Given the description of an element on the screen output the (x, y) to click on. 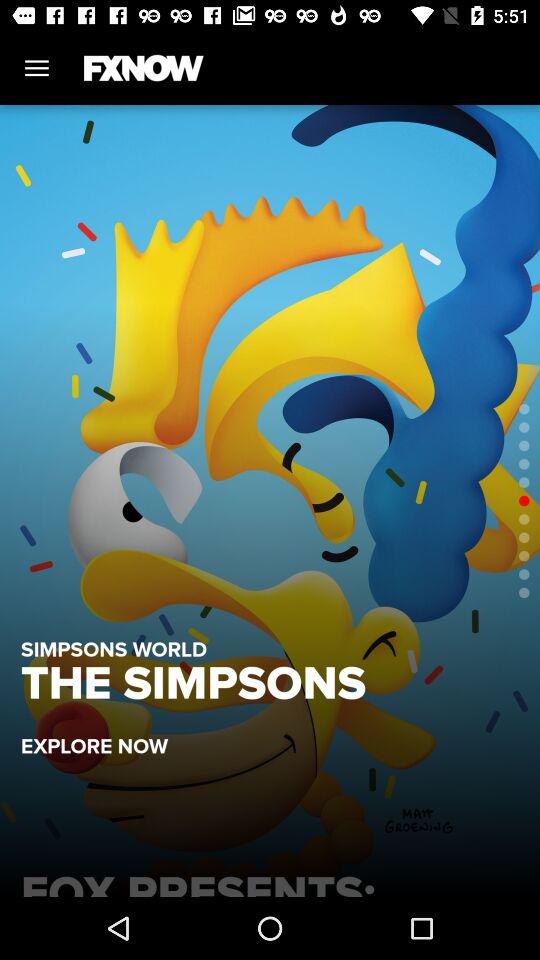
flip until explore now item (104, 735)
